Given the description of an element on the screen output the (x, y) to click on. 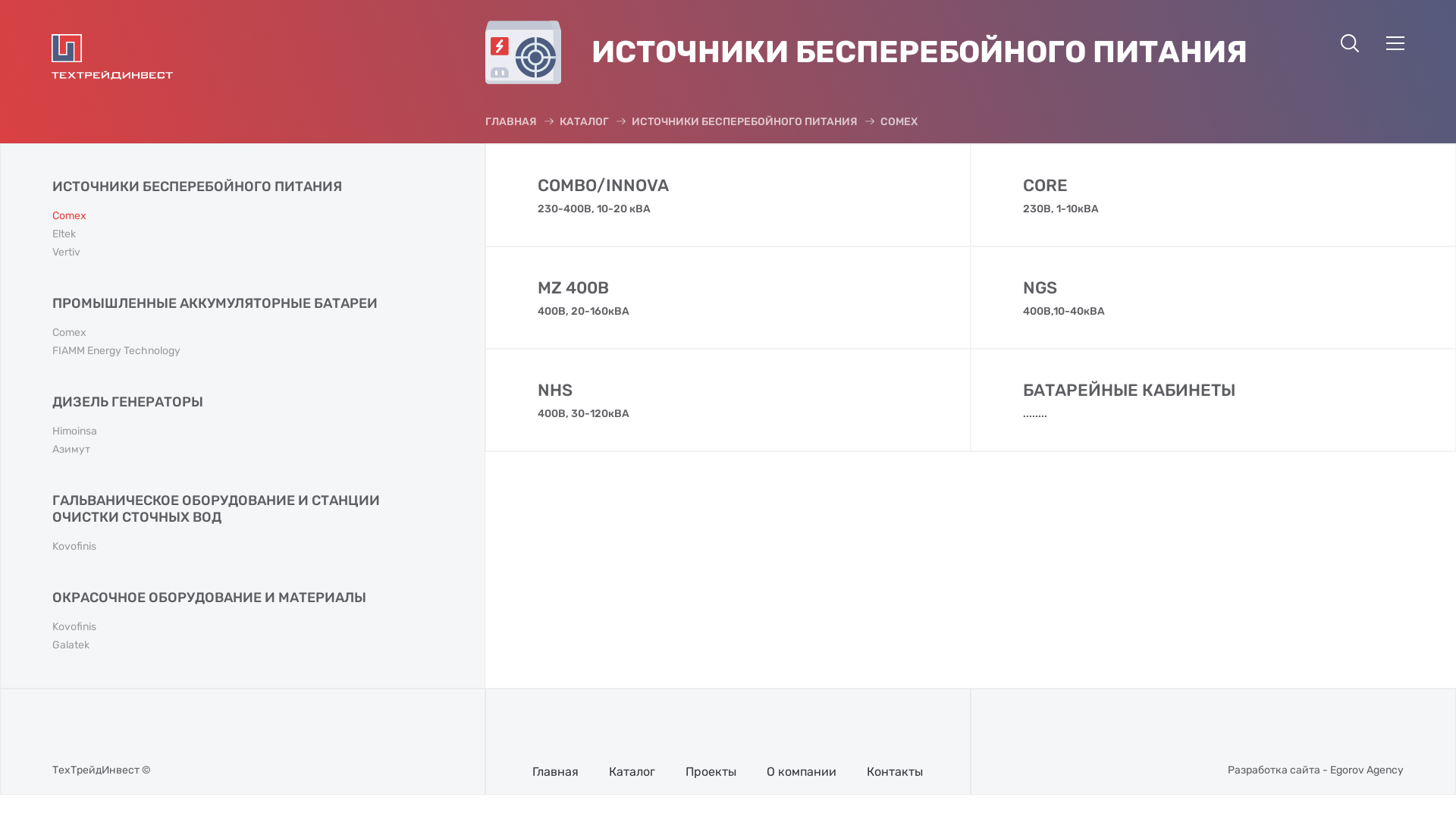
Eltek Element type: text (63, 233)
Comex Element type: text (69, 332)
Egorov Agency Element type: text (1366, 769)
Vertiv Element type: text (66, 251)
Kovofinis Element type: text (74, 626)
Comex Element type: text (69, 215)
Kovofinis Element type: text (74, 545)
FIAMM Energy Technology Element type: text (116, 350)
Himoinsa Element type: text (74, 430)
Galatek Element type: text (70, 644)
